Given the description of an element on the screen output the (x, y) to click on. 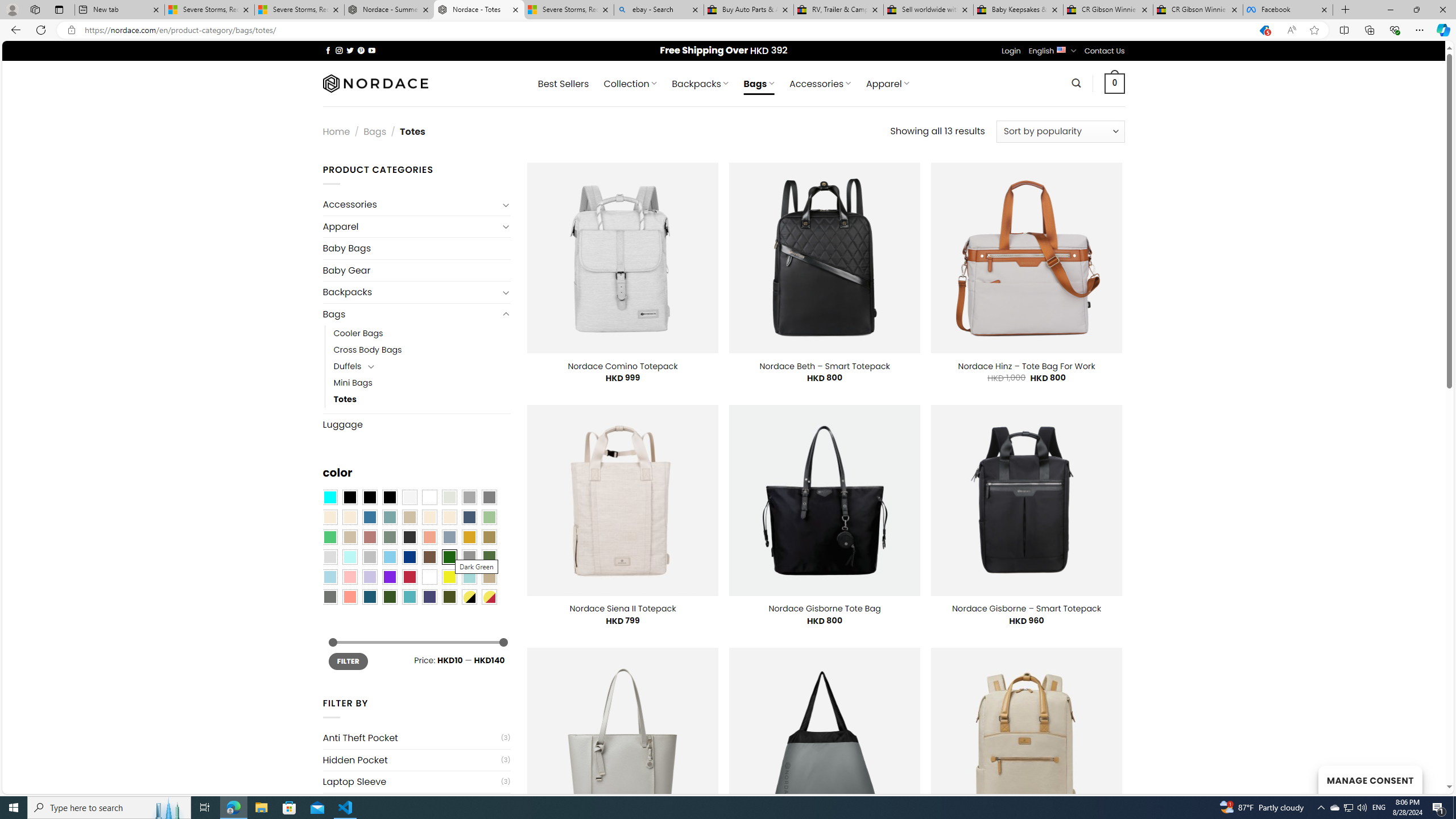
Luggage (416, 424)
USB Charging Port (410, 803)
Cooler Bags (357, 333)
Black (369, 497)
Light Green (488, 517)
Follow on Facebook (327, 49)
Totes (344, 398)
Baby Gear (416, 270)
Black-Brown (389, 497)
Peach Pink (349, 596)
Coral (429, 536)
